Given the description of an element on the screen output the (x, y) to click on. 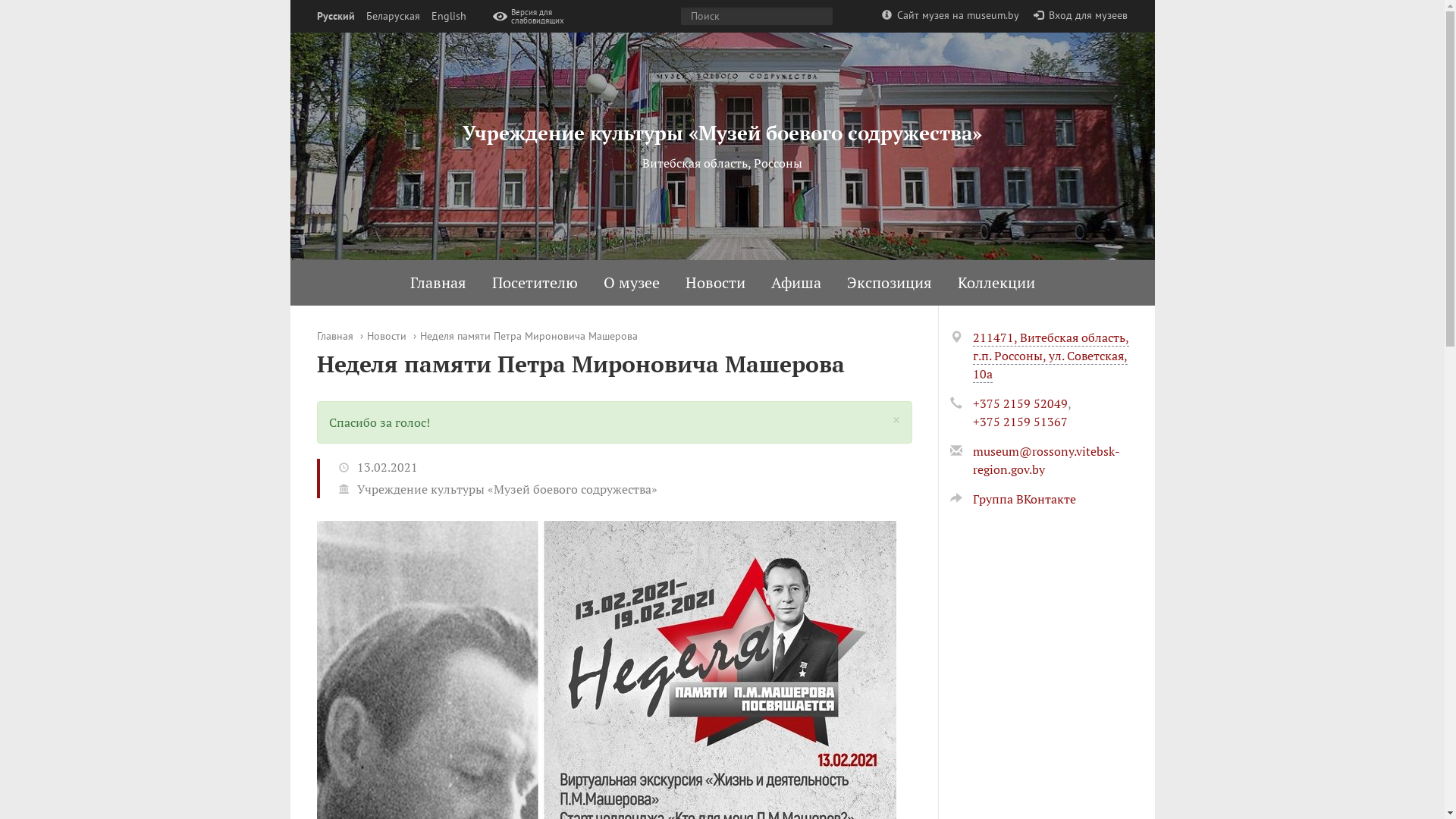
museum@rossony.vitebsk-region.gov.by Element type: text (1045, 459)
English Element type: text (447, 16)
+375 2159 51367 Element type: text (1019, 421)
+375 2159 52049 Element type: text (1019, 403)
